Given the description of an element on the screen output the (x, y) to click on. 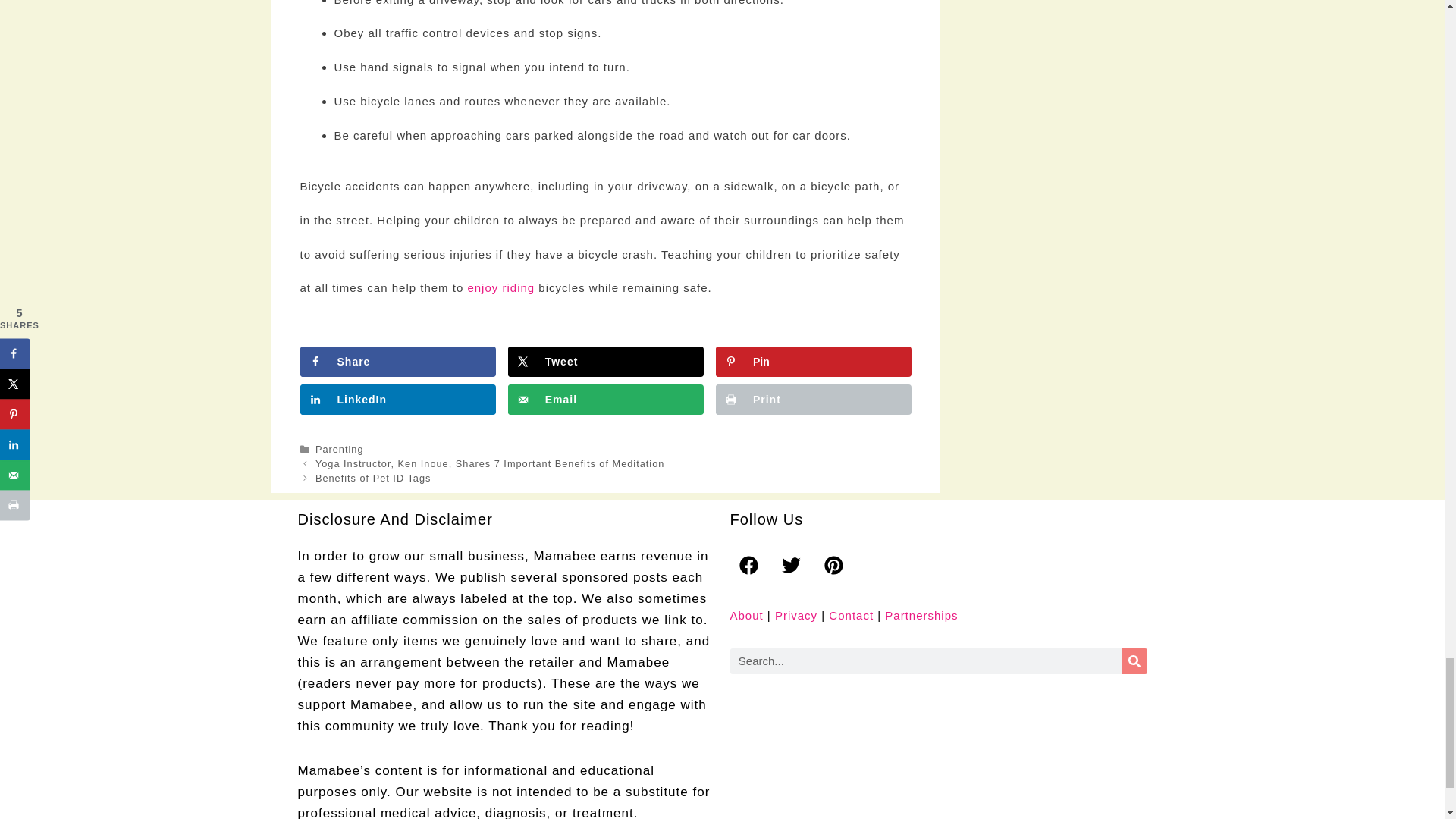
Save to Pinterest (813, 361)
Share on Facebook (397, 361)
Share on LinkedIn (397, 399)
Send over email (605, 399)
Share on X (605, 361)
Print this webpage (813, 399)
